Given the description of an element on the screen output the (x, y) to click on. 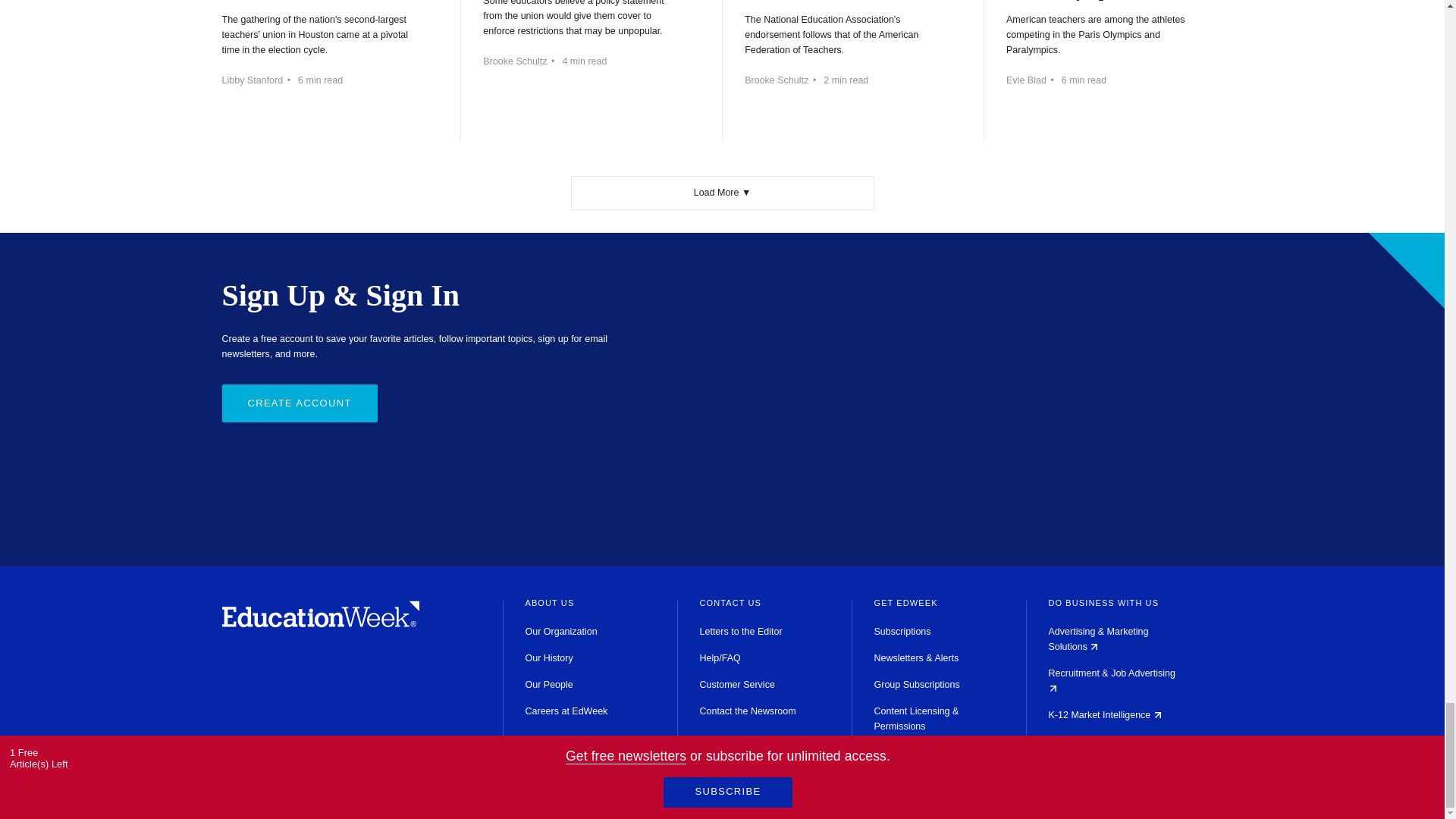
Homepage (320, 623)
